Given the description of an element on the screen output the (x, y) to click on. 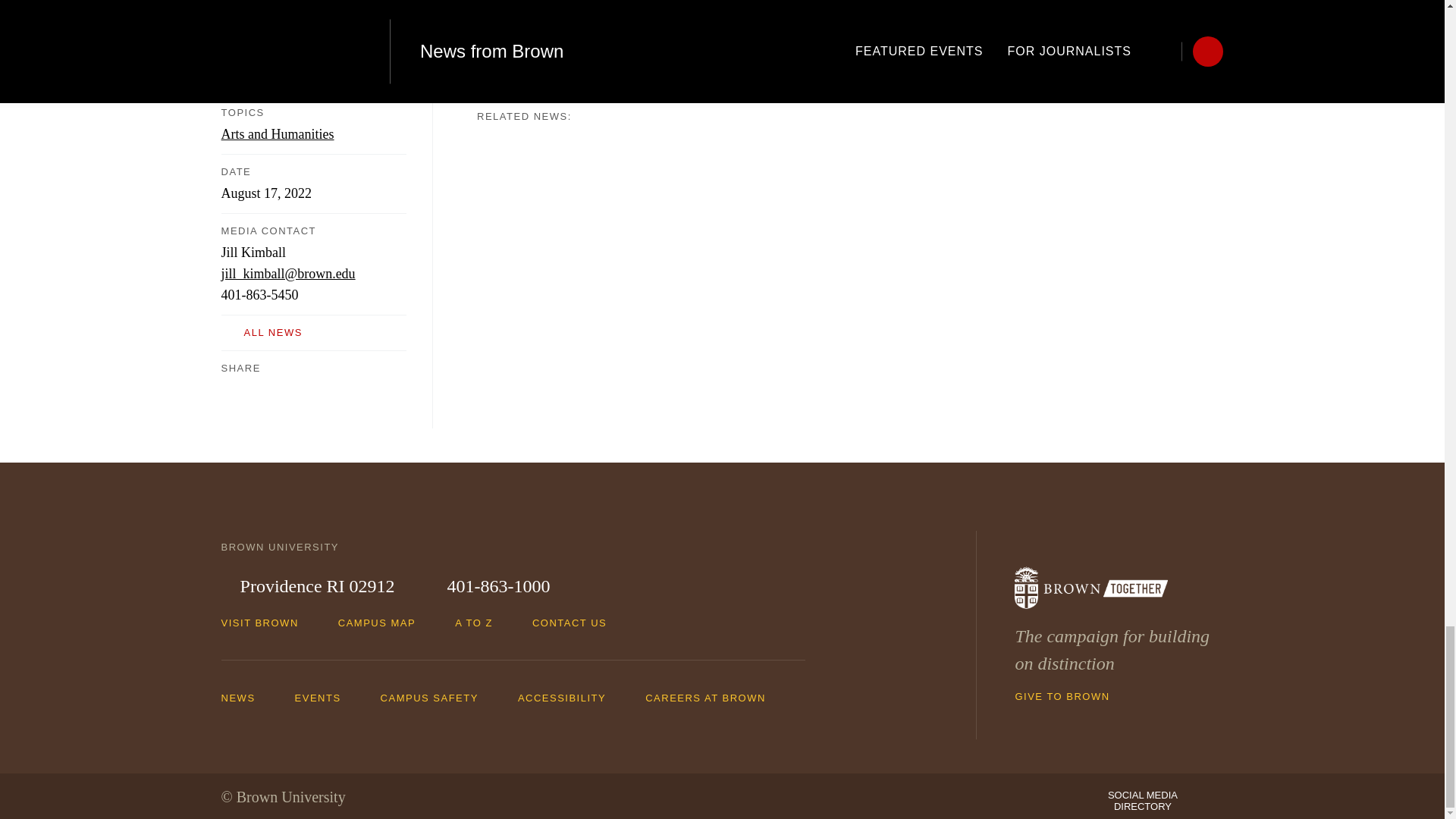
EVENTS (325, 697)
401-863-1000 (489, 586)
CONTACT US (576, 622)
CAMPUS SAFETY (436, 697)
Awards and Fellowships (543, 24)
CAMPUS MAP (383, 622)
VISIT BROWN (267, 622)
ACCESSIBILITY (569, 697)
NEWS (245, 697)
Providence RI 02912 (307, 586)
A TO Z (481, 622)
